Given the description of an element on the screen output the (x, y) to click on. 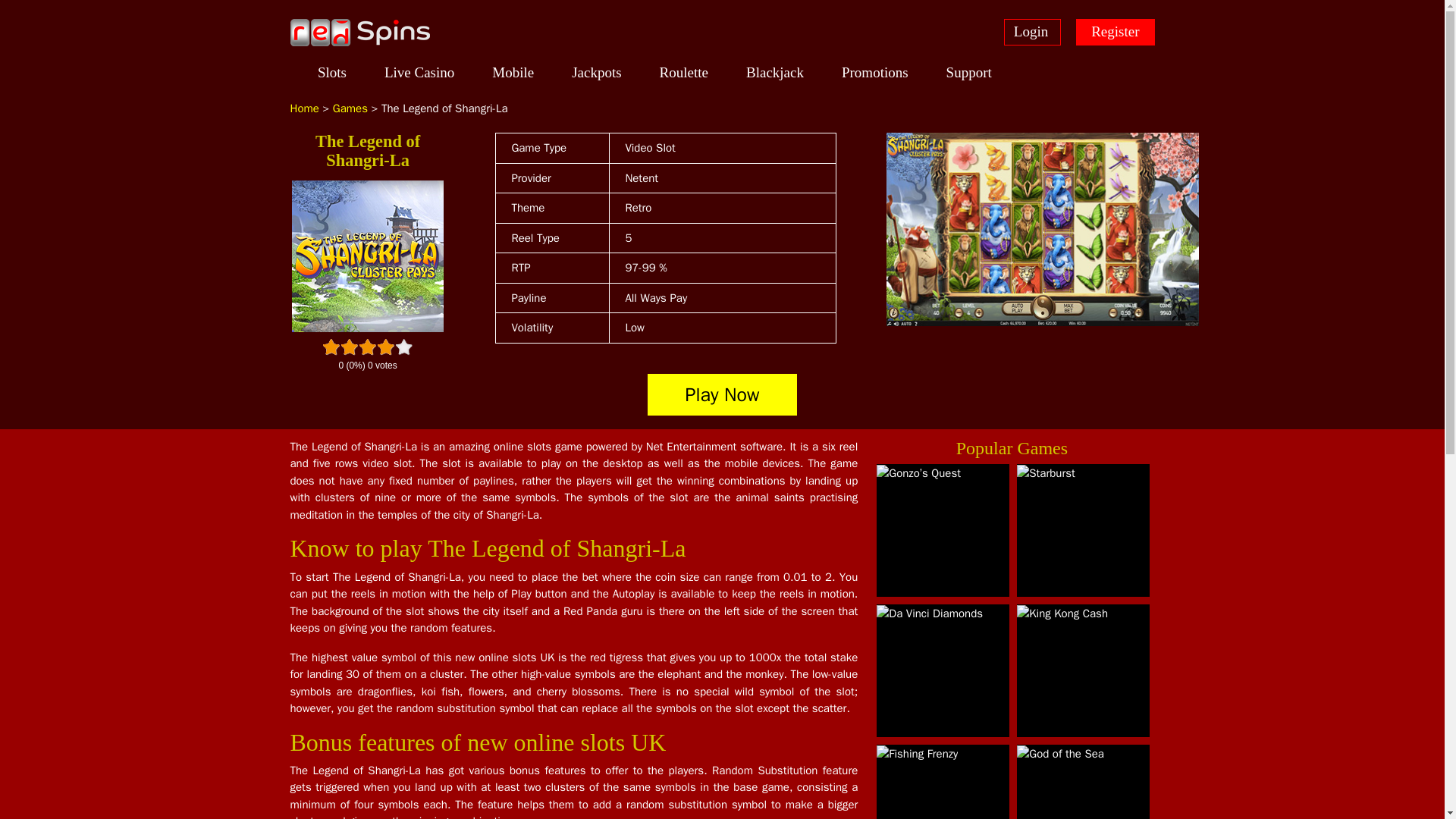
Redspins (359, 31)
Home (303, 108)
Jackpots (596, 76)
Mobile (513, 76)
Live Casino (419, 76)
Support (968, 76)
Play Now (722, 394)
Login (1032, 31)
Promotions (874, 76)
Games (350, 108)
